Given the description of an element on the screen output the (x, y) to click on. 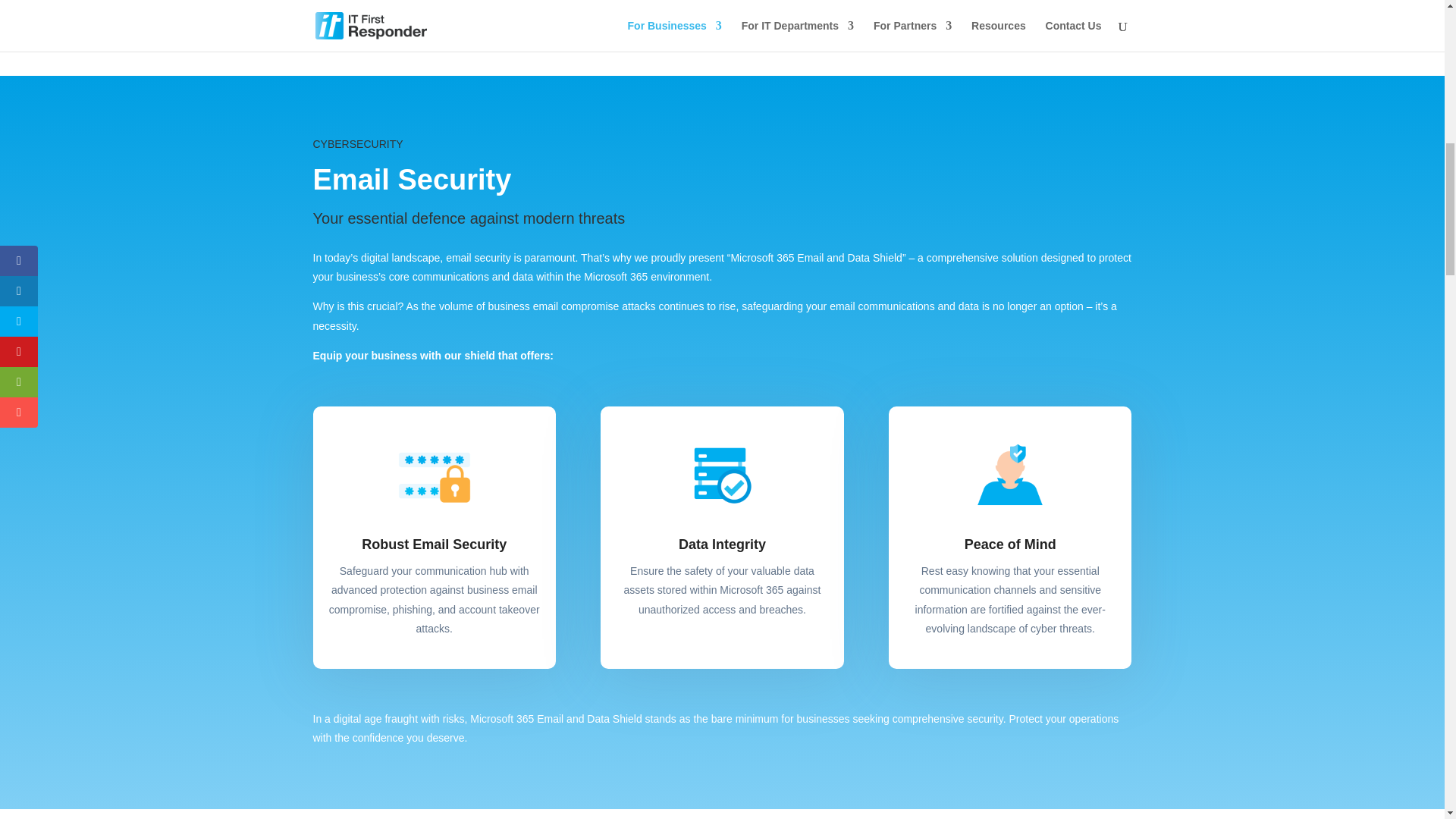
Cyber Security 1 (433, 474)
Cyber Security 2 (722, 474)
Cyber Security 3 (1010, 474)
